Given the description of an element on the screen output the (x, y) to click on. 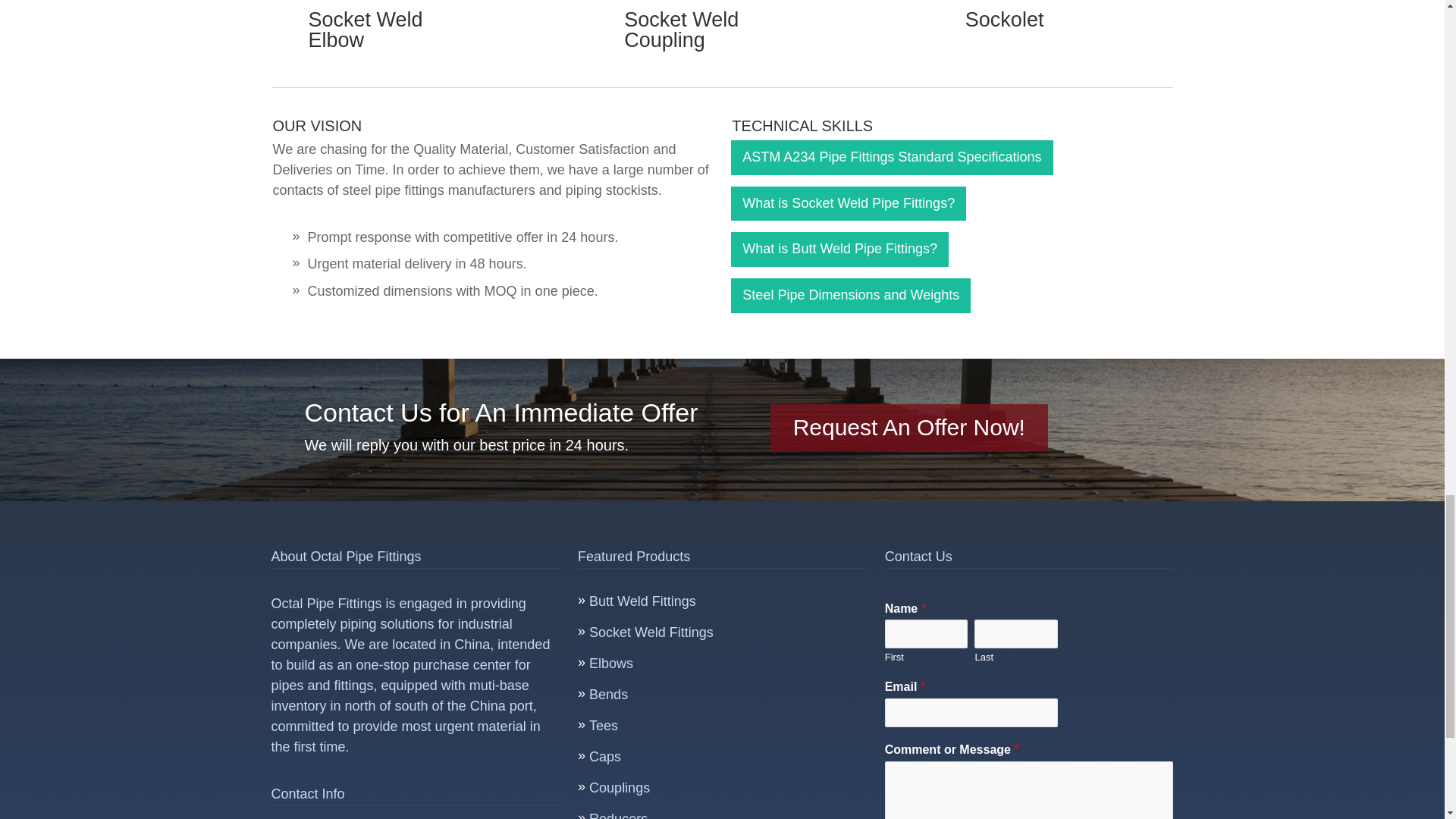
What is Butt Weld Pipe Fittings? (839, 248)
Steel Pipe Dimensions and Weights (850, 295)
What is Socket Weld Pipe Fittings? (848, 203)
ASTM A234 Pipe Fittings Standard Specifications (891, 157)
